Given the description of an element on the screen output the (x, y) to click on. 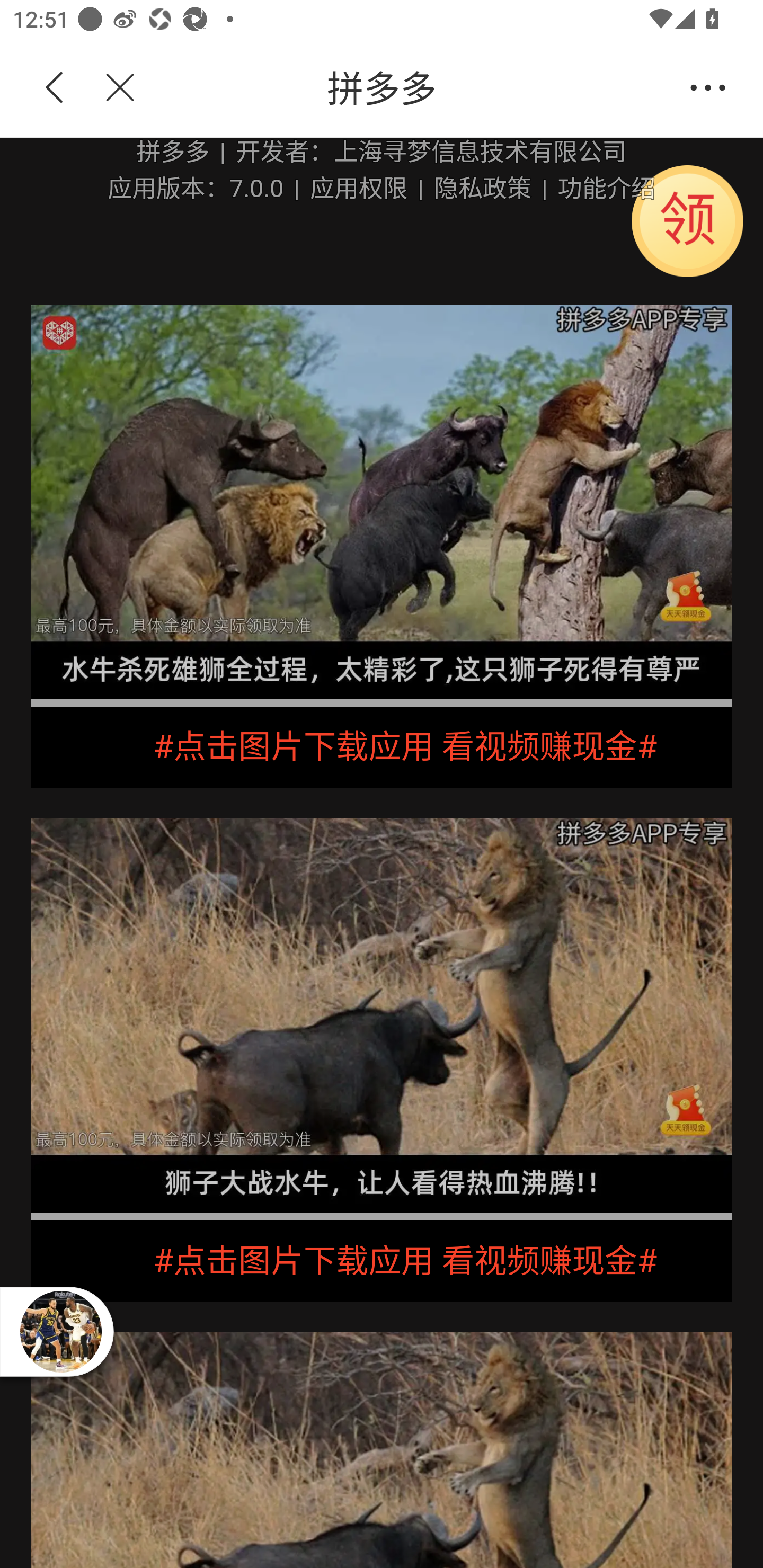
 (109, 87)
拼多多 (411, 87)
 返回 (54, 87)
 更多 (707, 87)
领 (687, 219)
#点击图片下载应用 看视频赚现金# (381, 746)
#点击图片下载应用 看视频赚现金# (381, 1261)
播放器 (60, 1331)
